Given the description of an element on the screen output the (x, y) to click on. 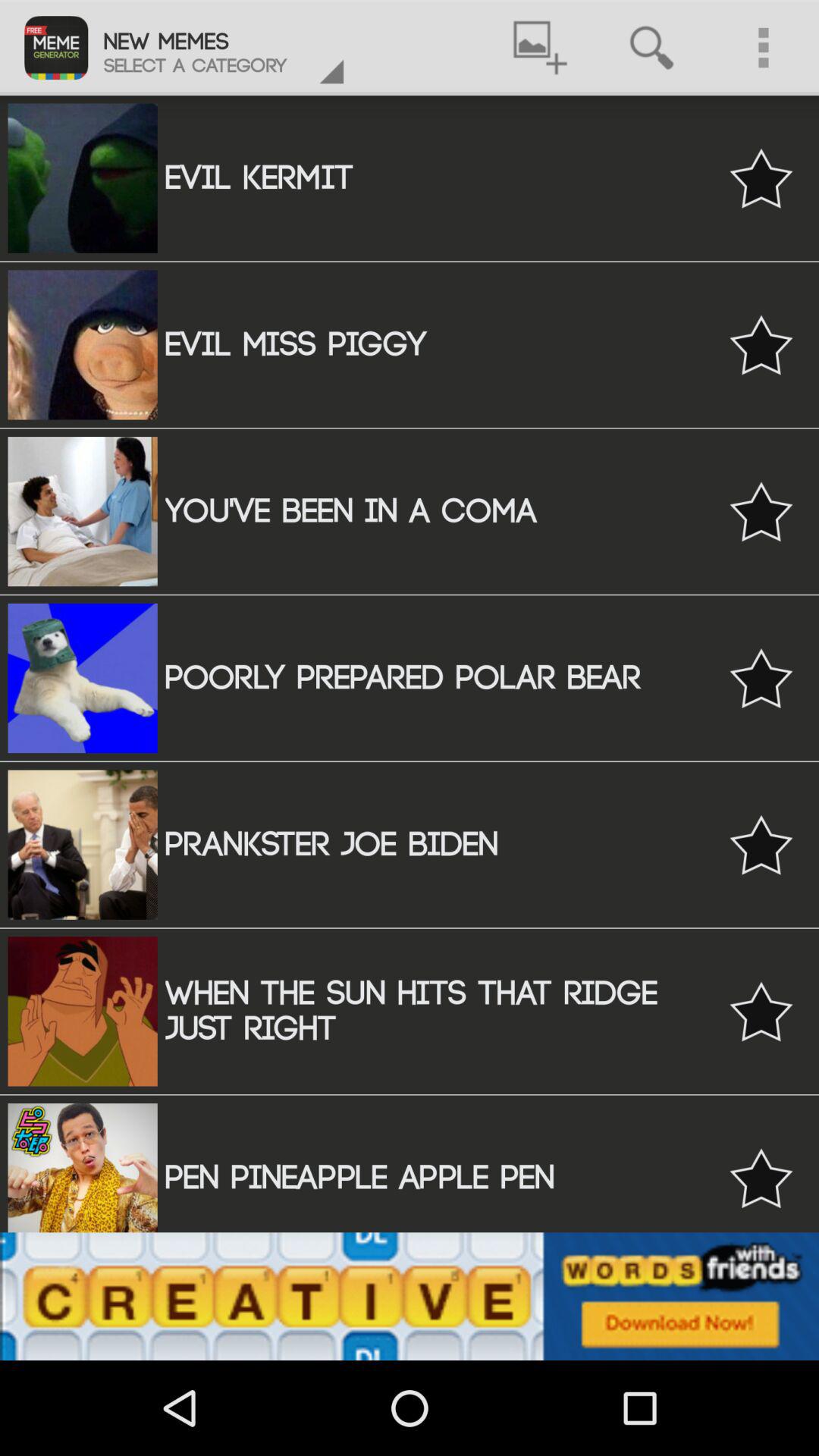
button to favorite the category (761, 1177)
